Given the description of an element on the screen output the (x, y) to click on. 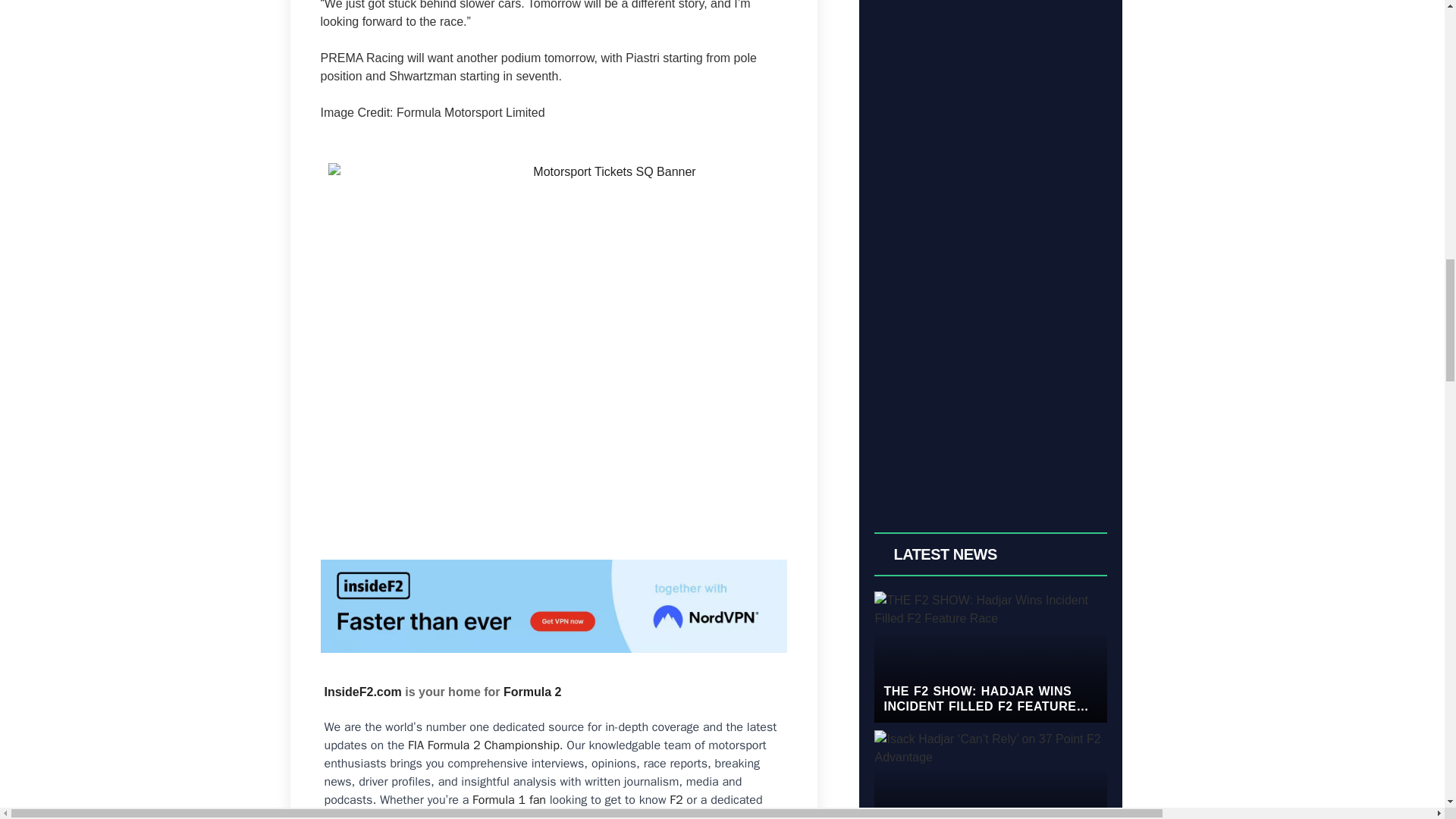
Formula 2 (531, 691)
FIA Formula 2 Championship (483, 744)
Formula 1 fan (508, 799)
InsideF2.com (362, 691)
